Given the description of an element on the screen output the (x, y) to click on. 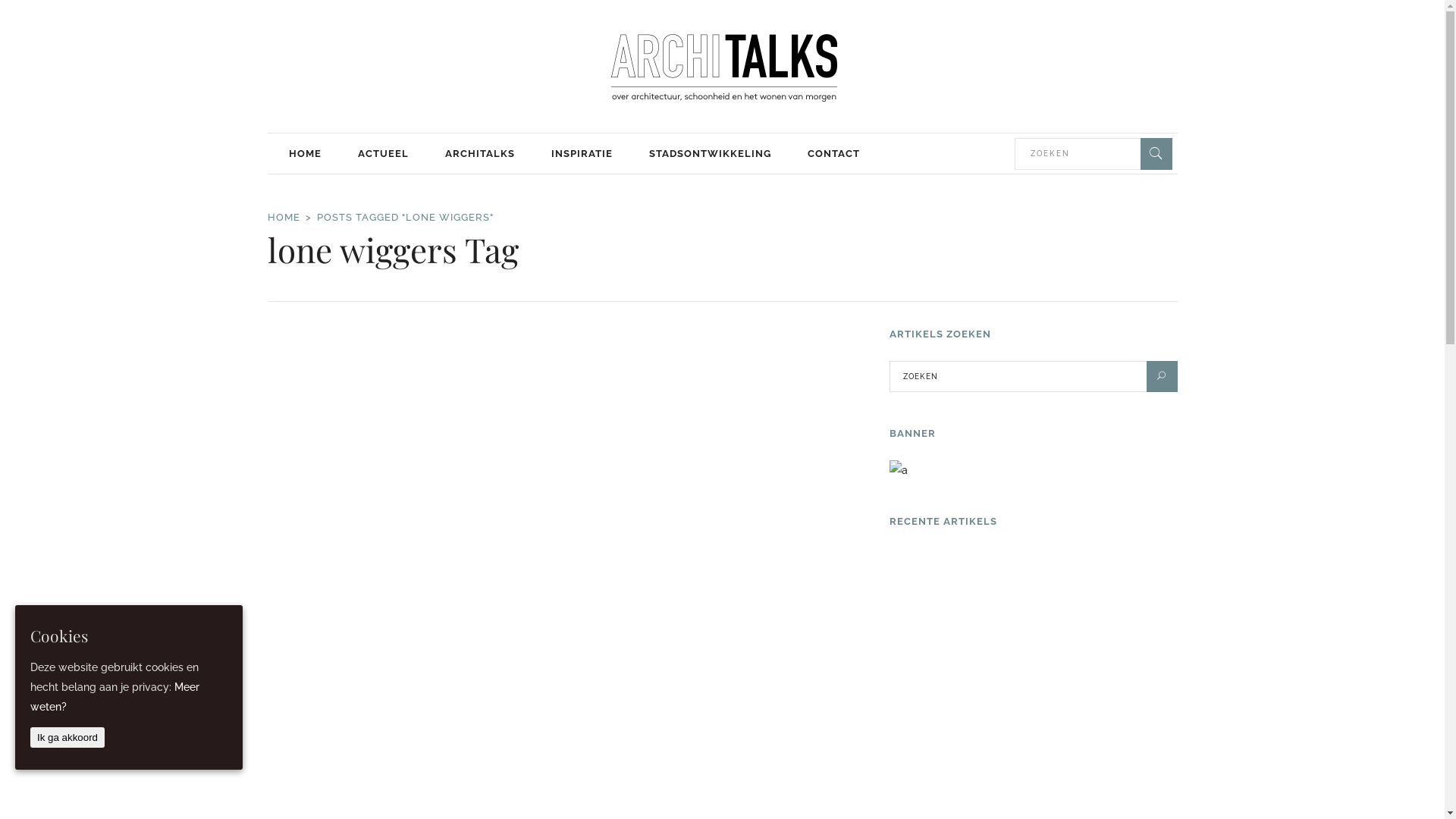
ACTUEEL Element type: text (382, 153)
INSPIRATIE Element type: text (581, 153)
STADSONTWIKKELING Element type: text (709, 153)
Search Element type: text (1156, 153)
ARCHITALKS Element type: text (479, 153)
HOME Element type: text (282, 217)
Ik ga akkoord Element type: text (67, 737)
CONTACT Element type: text (832, 153)
Meer weten? Element type: text (114, 696)
HOME Element type: text (303, 153)
U Element type: text (1161, 376)
